Given the description of an element on the screen output the (x, y) to click on. 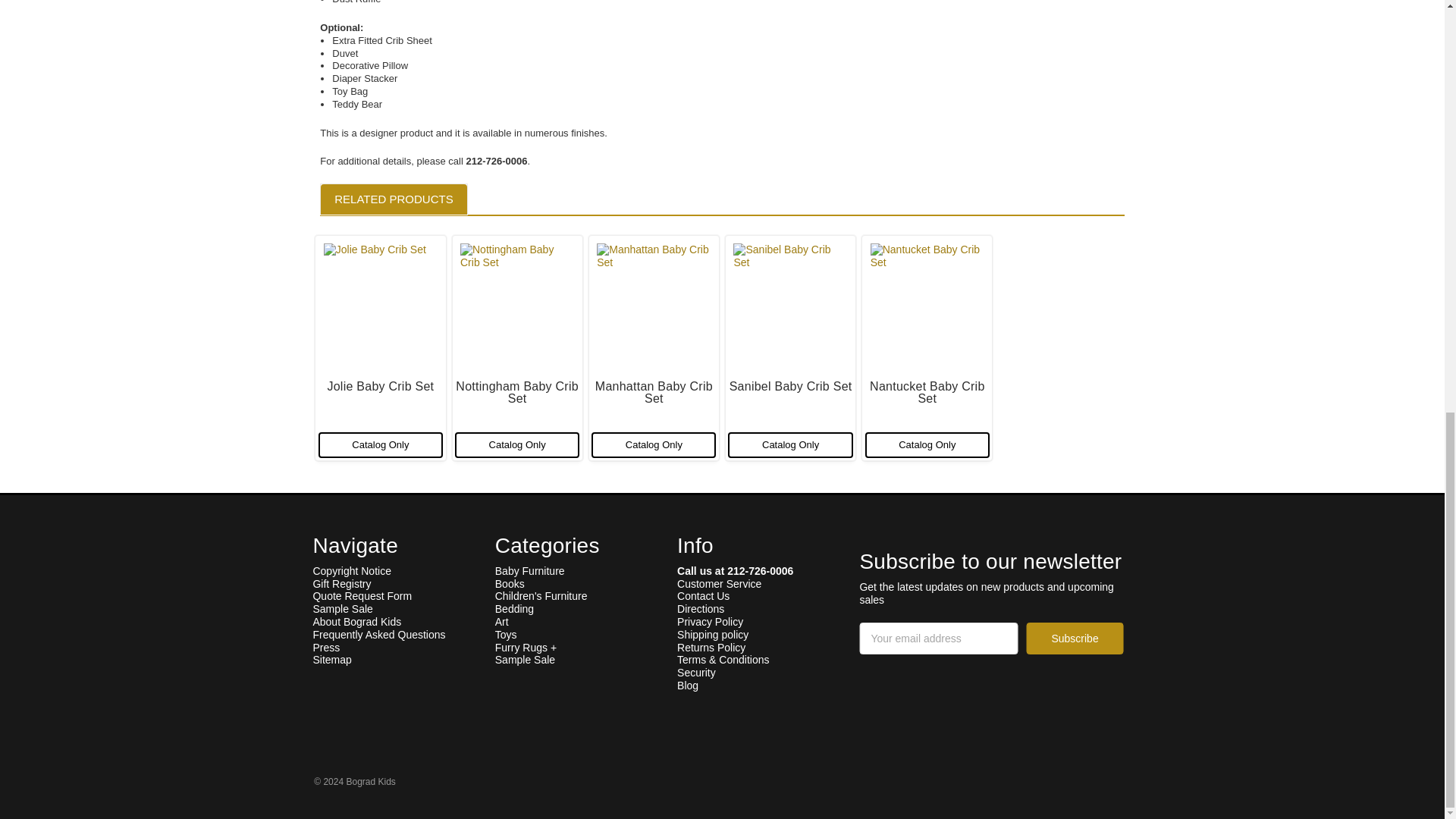
Manhattan Baby Crib Set (653, 304)
Subscribe (1074, 638)
Sanibel Baby Crib Set (790, 304)
Nantucket Baby Crib Set (927, 304)
Nottingham Baby Crib Set (516, 304)
Jolie Baby Crib Set (380, 304)
